Given the description of an element on the screen output the (x, y) to click on. 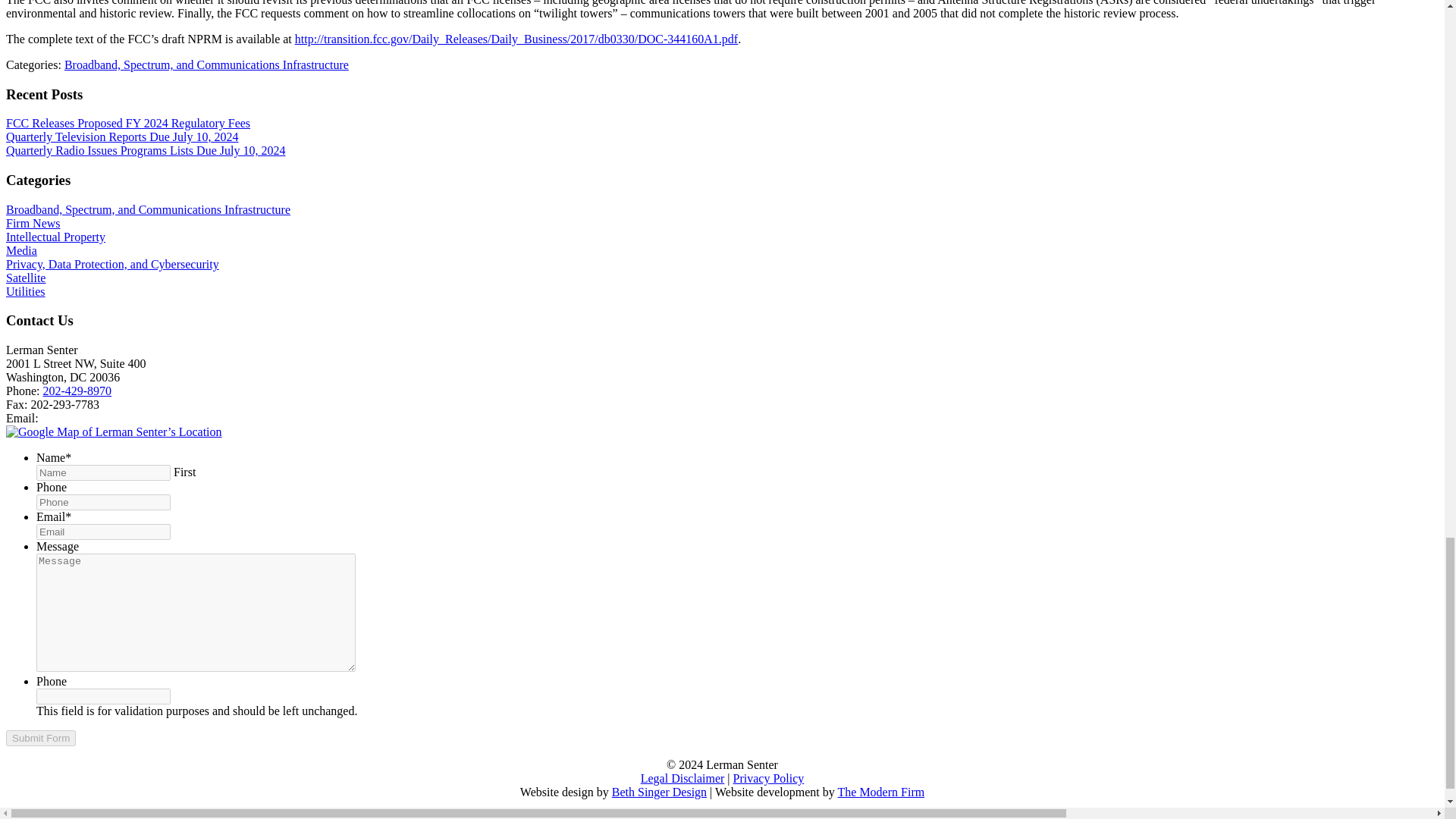
Law Firm Website Design (880, 791)
Broadband, Spectrum, and Communications Infrastructure (206, 64)
Quarterly Television Reports Due July 10, 2024 (121, 136)
Submit Form (40, 738)
Disclaimer (682, 778)
FCC Releases Proposed FY 2024 Regulatory Fees (127, 123)
Click to view this map on Google Maps (113, 431)
